Given the description of an element on the screen output the (x, y) to click on. 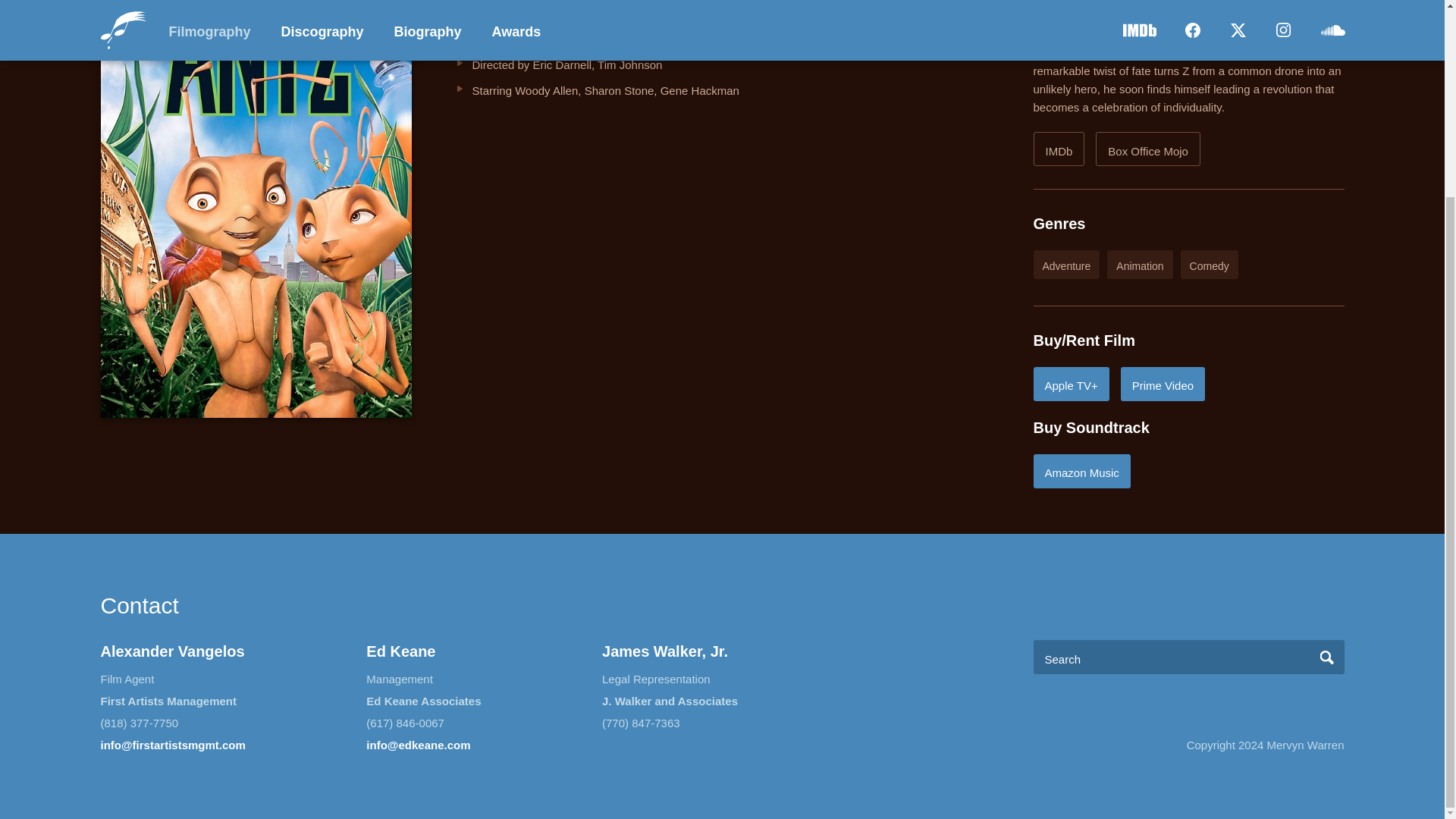
Ed Keane Associates (423, 700)
First Artists Management (167, 700)
Comedy (1209, 264)
IMDb (1058, 148)
J. Walker and Associates (670, 700)
Prime Video (1163, 383)
Box Office Mojo (1147, 148)
Search (1326, 656)
Search (1326, 656)
Adventure (1065, 264)
